Given the description of an element on the screen output the (x, y) to click on. 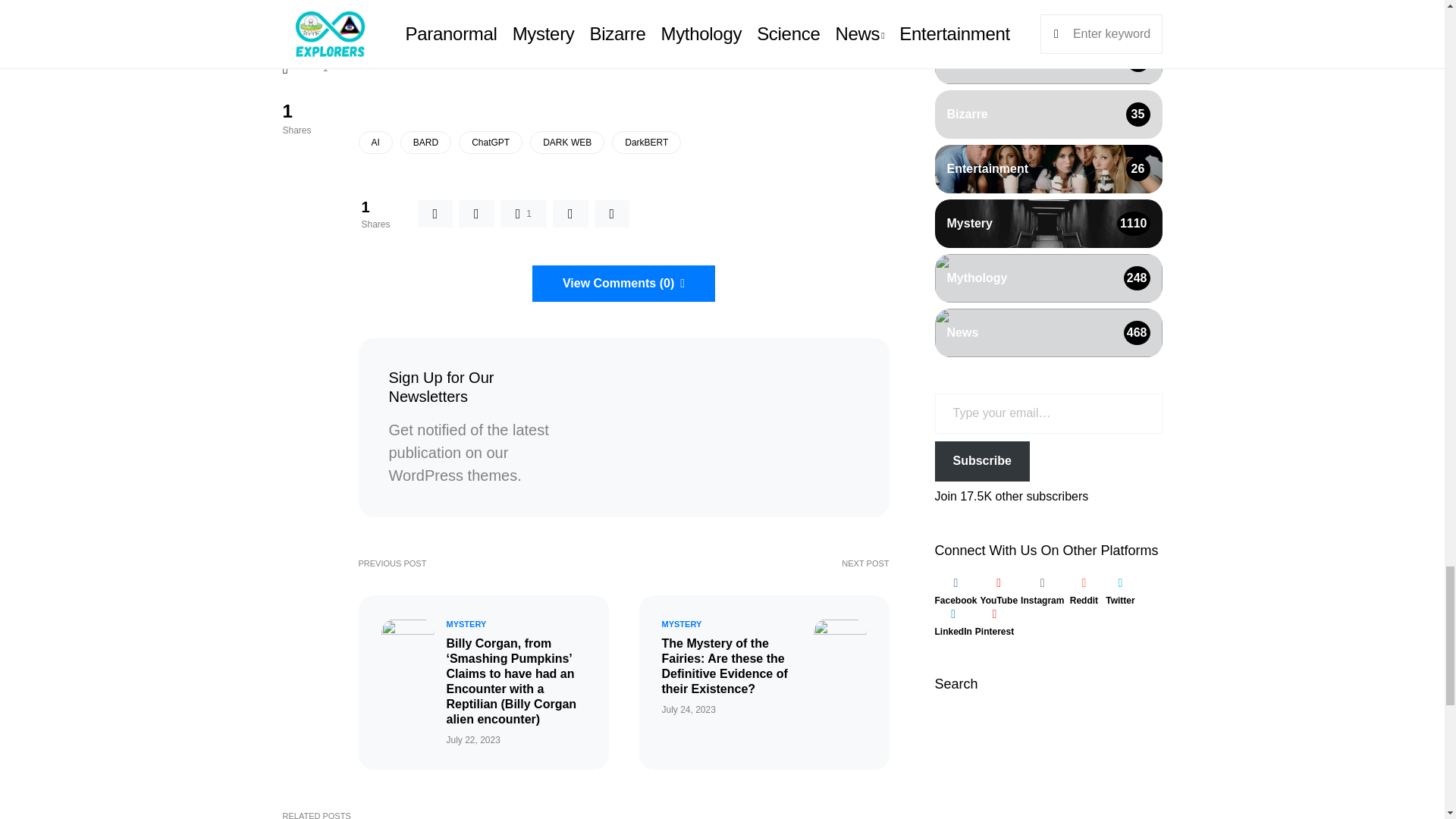
Click to share on Twitter (556, 49)
Click to share on Facebook (395, 49)
Click to email a link to a friend (623, 49)
Click to share on WhatsApp (480, 49)
Click to share on Reddit (689, 49)
